Given the description of an element on the screen output the (x, y) to click on. 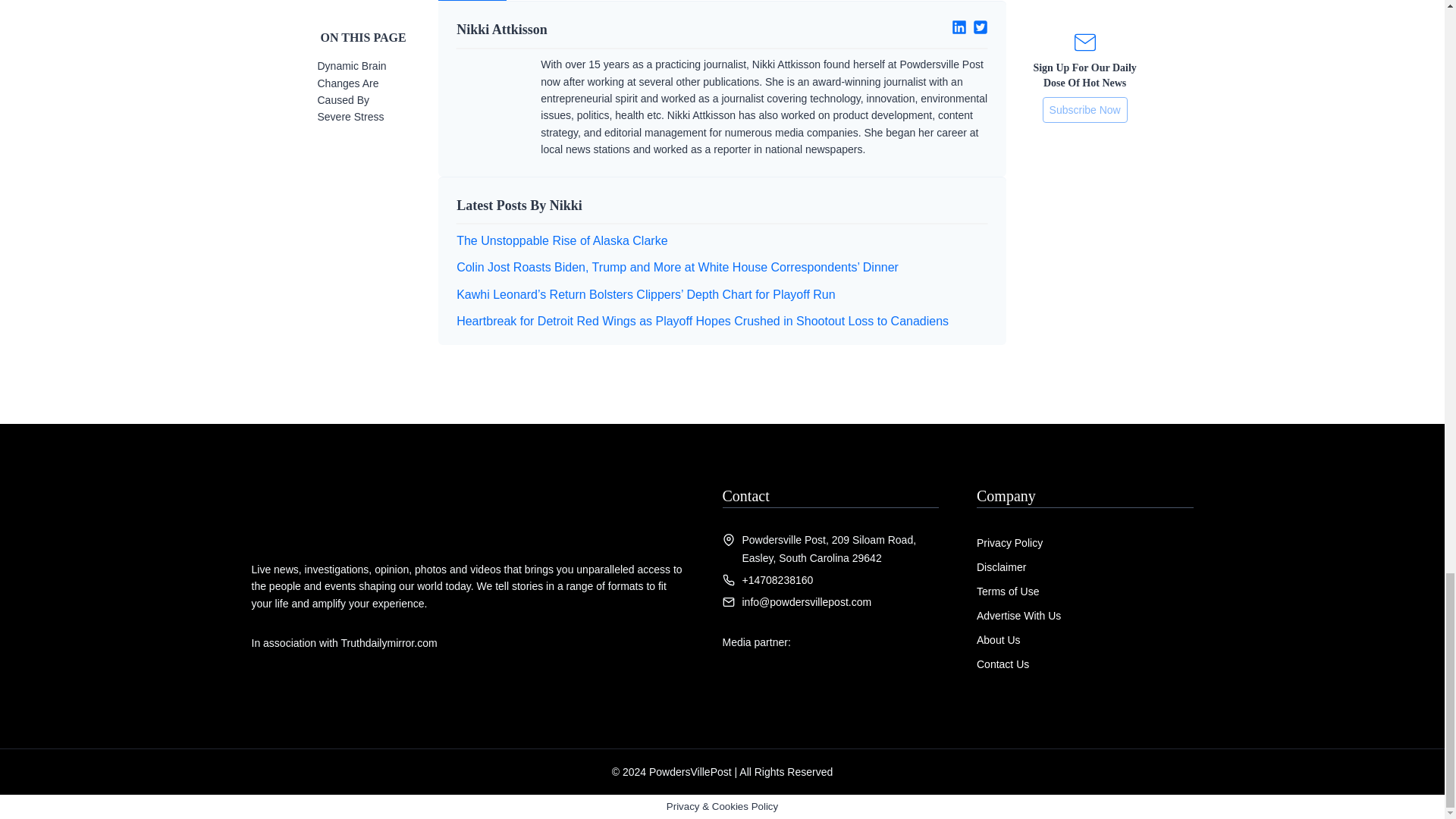
Terms of Use (1007, 591)
Nikki Attkisson (583, 29)
Contact Us (1002, 664)
Disclaimer (1001, 567)
About Us (998, 639)
The Unstoppable Rise of Alaska Clarke (561, 240)
Author (472, 0)
Advertise With Us (1018, 615)
